Given the description of an element on the screen output the (x, y) to click on. 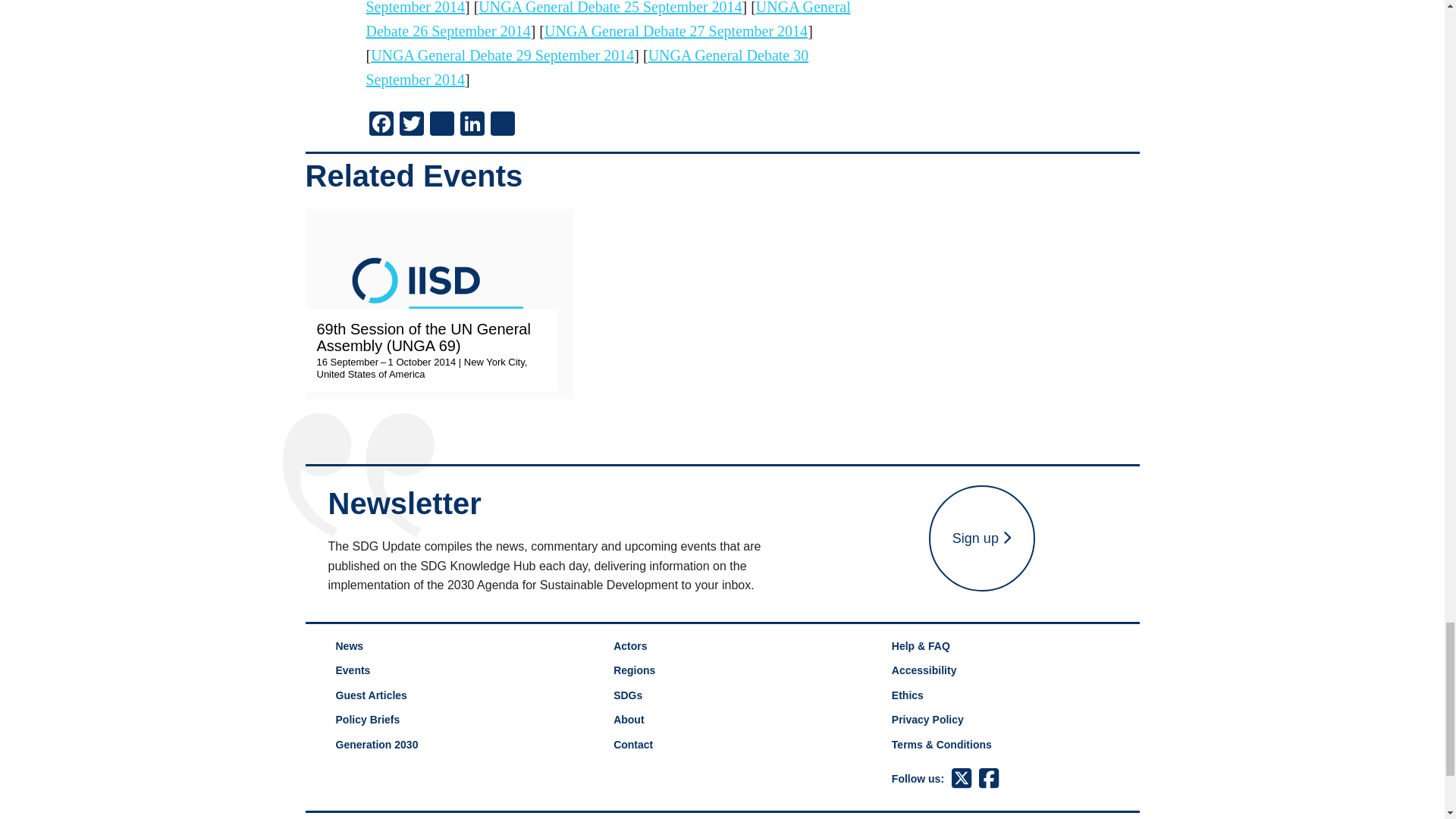
UNGA General Debate 25 September 2014 (610, 7)
LinkedIn (471, 125)
Twitter (411, 125)
UNGA General Debate 24 September 2014 (581, 7)
Facebook (380, 125)
LinkedIn (471, 125)
UNGA General Debate 30 September 2014 (586, 66)
UNGA General Debate 26 September 2014 (607, 19)
Twitter (411, 125)
UNGA General Debate 27 September 2014 (676, 30)
Facebook (380, 125)
Pinterest (441, 125)
UNGA General Debate 29 September 2014 (502, 54)
Pinterest (441, 125)
